Given the description of an element on the screen output the (x, y) to click on. 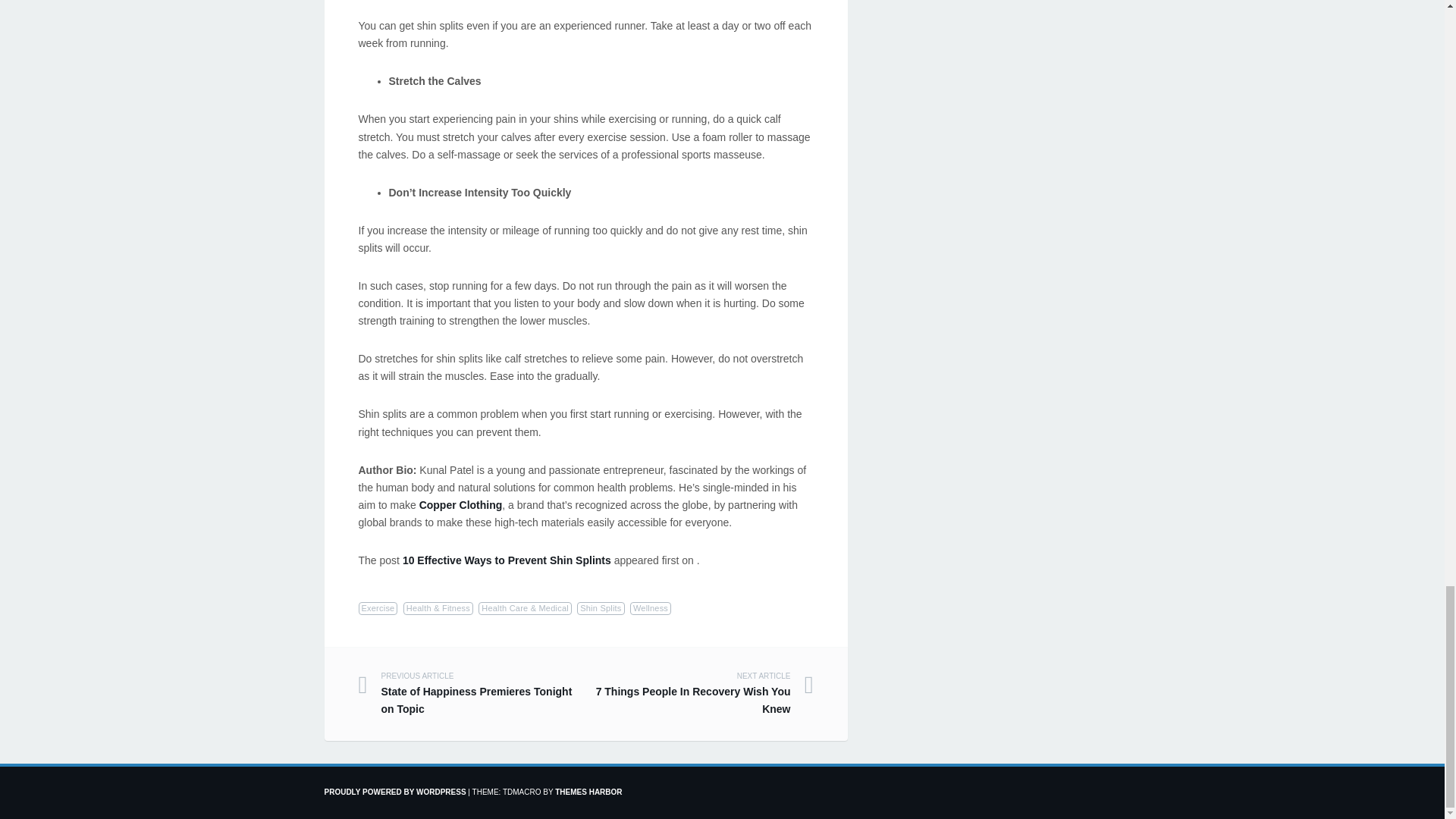
Exercise (377, 608)
Copper Clothing (698, 694)
Wellness (460, 504)
10 Effective Ways to Prevent Shin Splints (650, 608)
Shin Splits (507, 560)
